Given the description of an element on the screen output the (x, y) to click on. 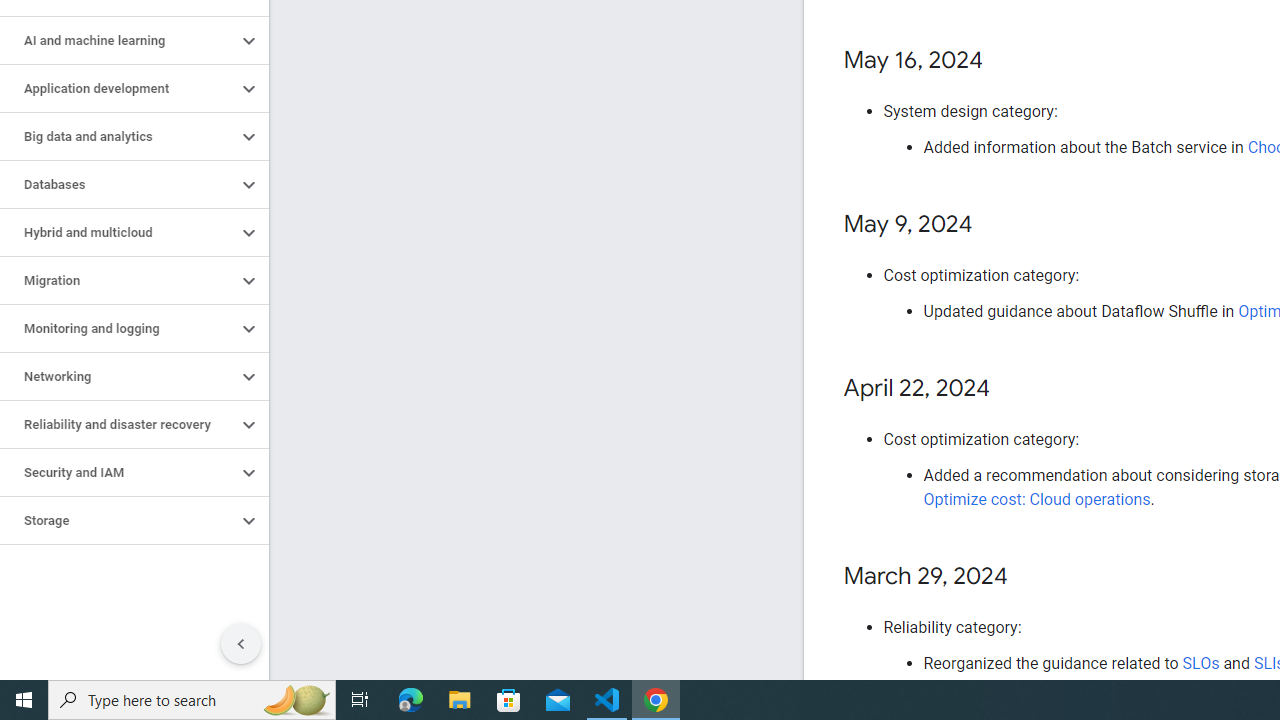
Hide side navigation (241, 643)
Copy link to this section: April 22, 2024 (1009, 389)
SLOs (1200, 663)
